Given the description of an element on the screen output the (x, y) to click on. 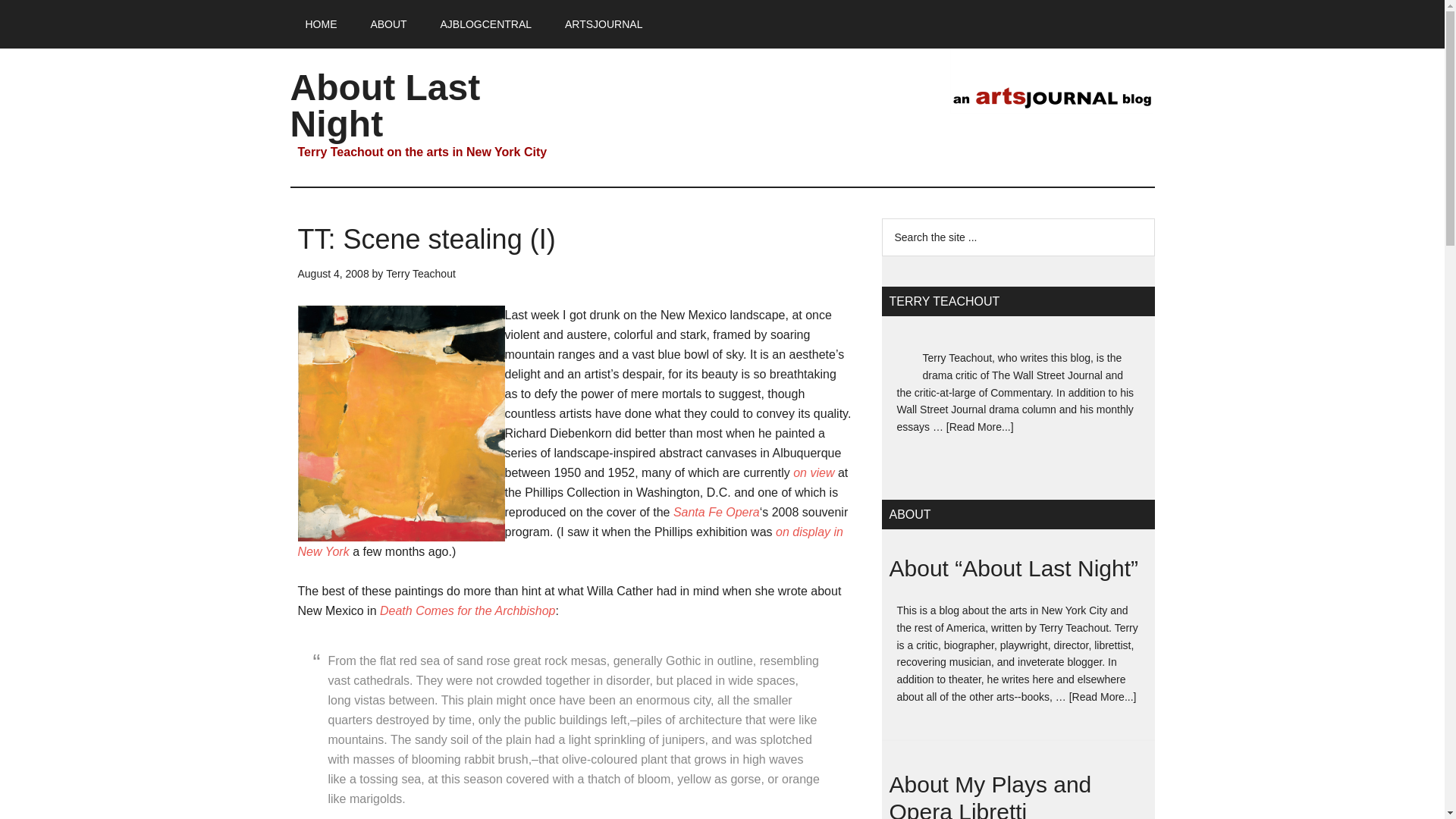
Santa Fe Opera (716, 512)
ABOUT (388, 24)
Death Comes for the Archbishop (468, 610)
on display in New York (570, 541)
AJBLOGCENTRAL (486, 24)
About My Plays and Opera Libretti (989, 795)
About My Plays and Opera Libretti (989, 795)
